Given the description of an element on the screen output the (x, y) to click on. 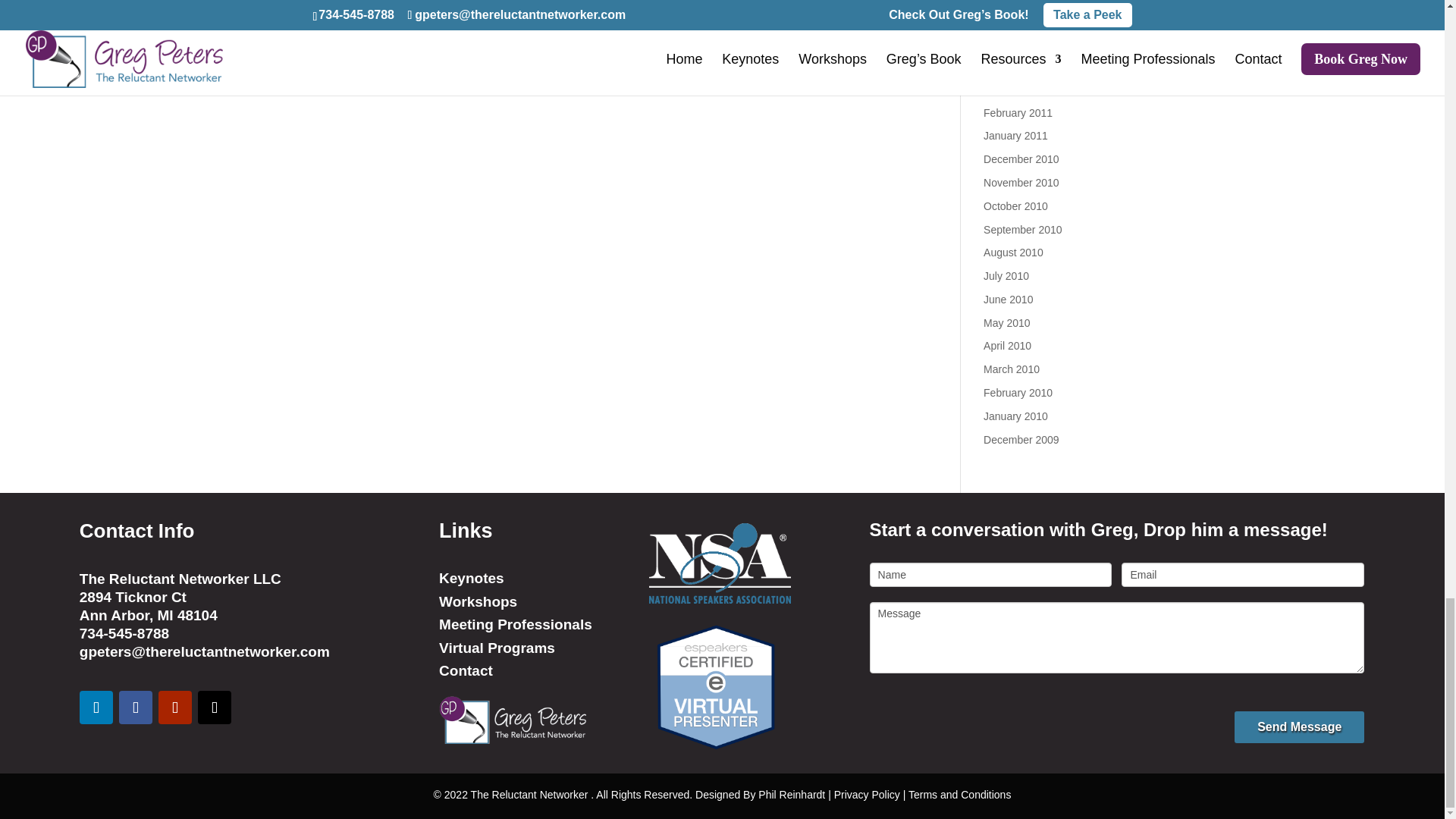
Footer Logo 2b (512, 719)
virtual (715, 686)
Follow on LinkedIn (96, 707)
Follow on X (214, 707)
Name (990, 574)
Follow on Youtube (175, 707)
NSALogoBlue (719, 563)
Email (1242, 574)
Follow on Facebook (135, 707)
